Given the description of an element on the screen output the (x, y) to click on. 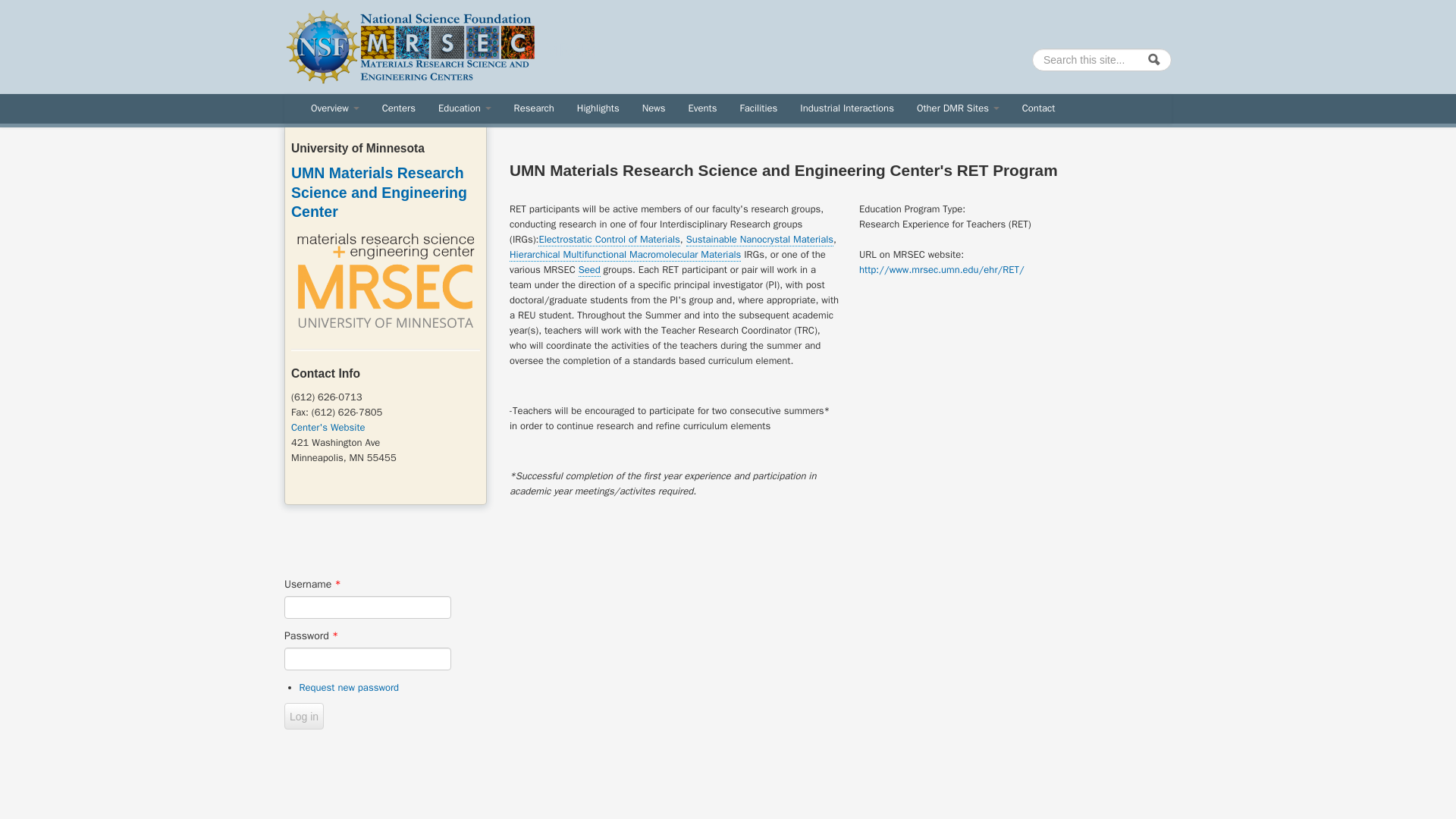
Education (464, 108)
Enter the terms you wish to search for. (1102, 59)
Sustainable Nanocrystal Materials (758, 239)
Seed (588, 269)
Hierarchical Multifunctional Macromolecular Materials (625, 254)
Electrostatic Control of Materials (608, 239)
Log in (303, 715)
Home (573, 49)
UMN Materials Research Science and Engineering Center (379, 192)
Request new password (348, 686)
MRSEC (573, 49)
Log in (303, 715)
Events (703, 108)
Centers (398, 108)
Contact (1038, 108)
